Given the description of an element on the screen output the (x, y) to click on. 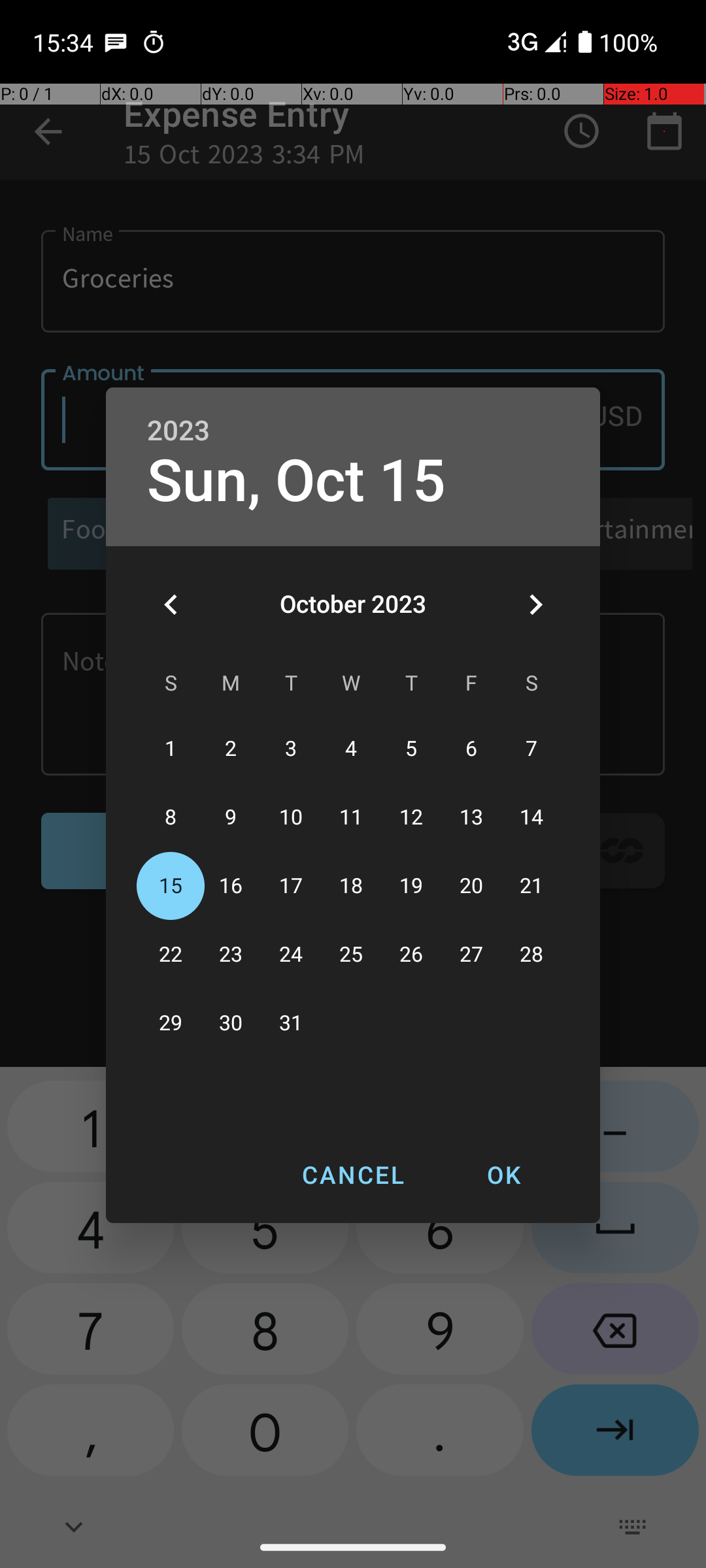
2023 Element type: android.widget.TextView (178, 430)
Previous month Element type: android.widget.ImageButton (170, 604)
Next month Element type: android.widget.ImageButton (535, 604)
CANCEL Element type: android.widget.Button (352, 1174)
11 Element type: android.view.View (350, 817)
12 Element type: android.view.View (411, 817)
13 Element type: android.view.View (471, 817)
14 Element type: android.view.View (531, 817)
16 Element type: android.view.View (230, 885)
17 Element type: android.view.View (290, 885)
18 Element type: android.view.View (350, 885)
19 Element type: android.view.View (411, 885)
21 Element type: android.view.View (531, 885)
22 Element type: android.view.View (170, 954)
23 Element type: android.view.View (230, 954)
24 Element type: android.view.View (290, 954)
26 Element type: android.view.View (411, 954)
27 Element type: android.view.View (471, 954)
28 Element type: android.view.View (531, 954)
29 Element type: android.view.View (170, 1023)
31 Element type: android.view.View (290, 1023)
